Given the description of an element on the screen output the (x, y) to click on. 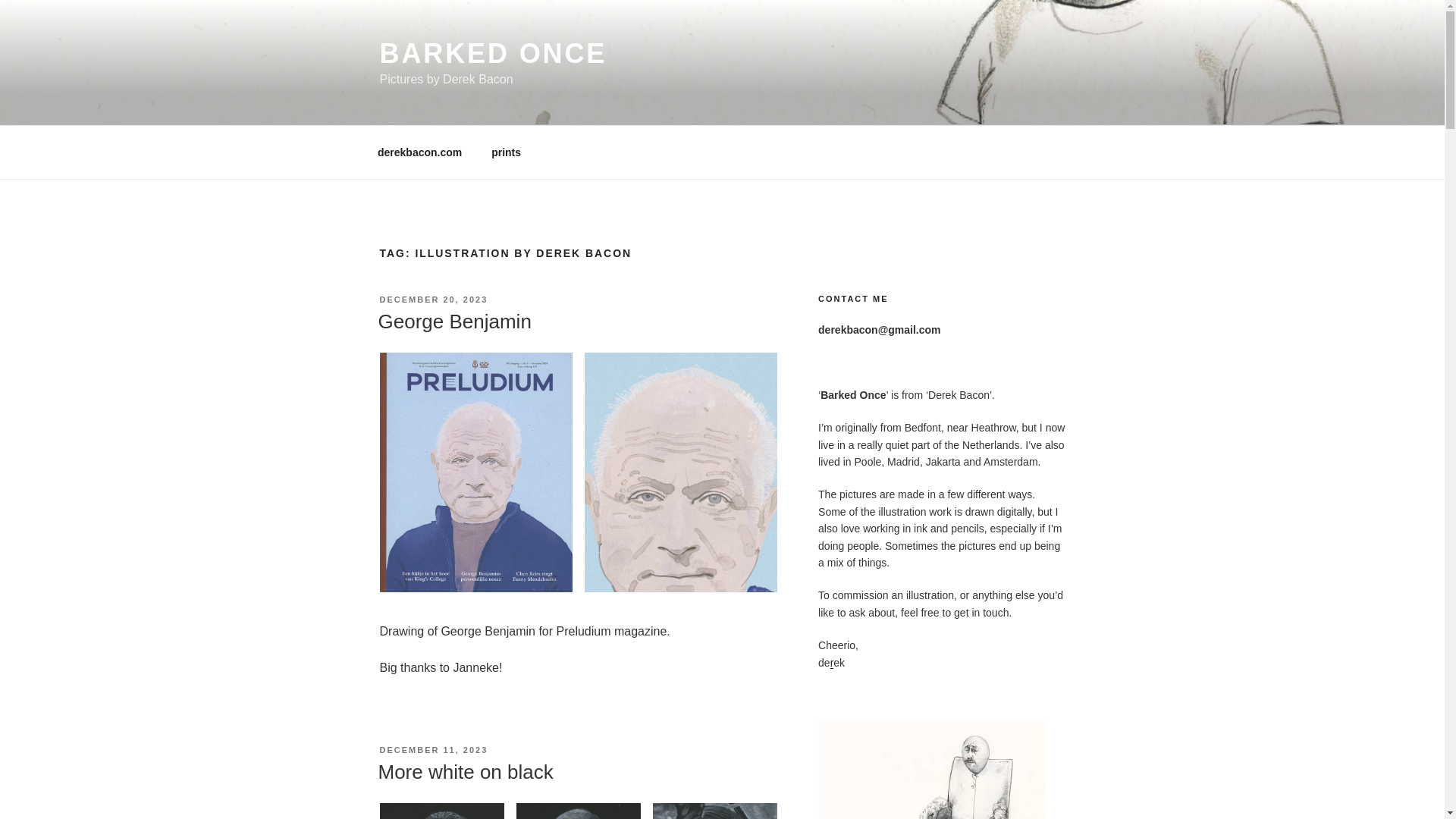
More white on black (465, 771)
BARKED ONCE (492, 52)
DECEMBER 20, 2023 (432, 298)
prints (506, 151)
DECEMBER 11, 2023 (432, 749)
George Benjamin (454, 321)
derekbacon.com (419, 151)
